Given the description of an element on the screen output the (x, y) to click on. 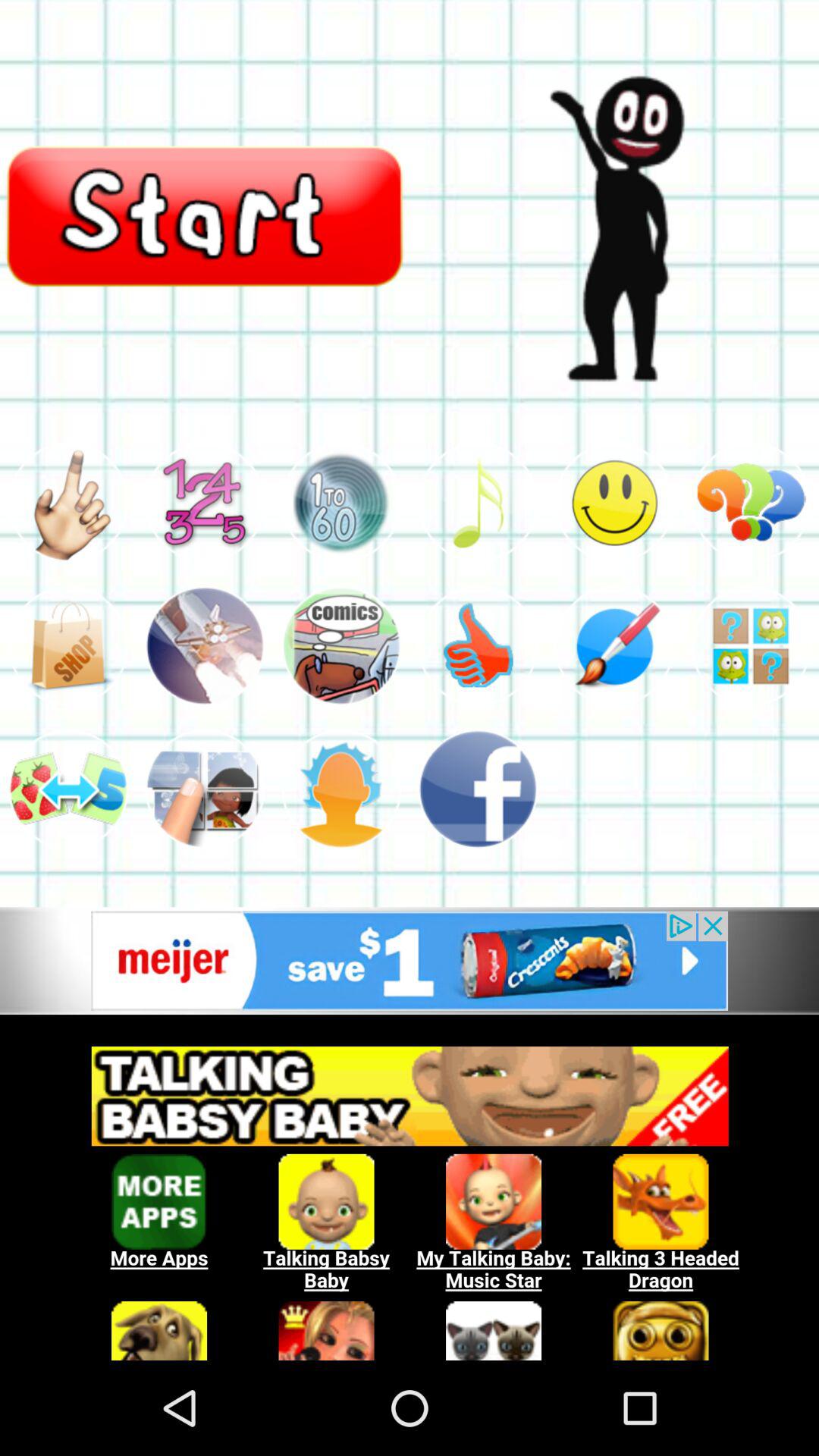
select comics (341, 645)
